Given the description of an element on the screen output the (x, y) to click on. 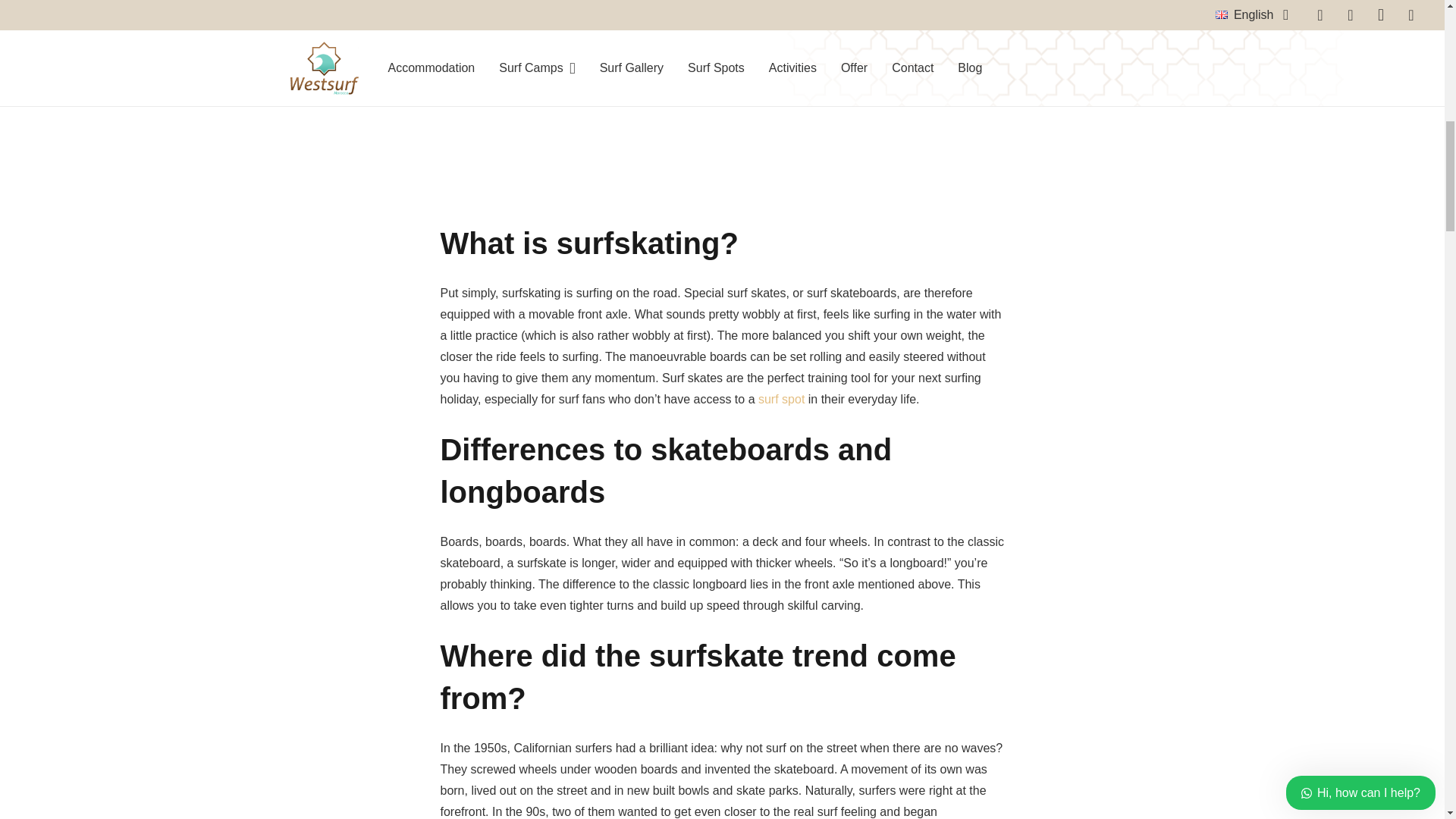
Back to top (1413, 30)
surf spot (781, 399)
